Given the description of an element on the screen output the (x, y) to click on. 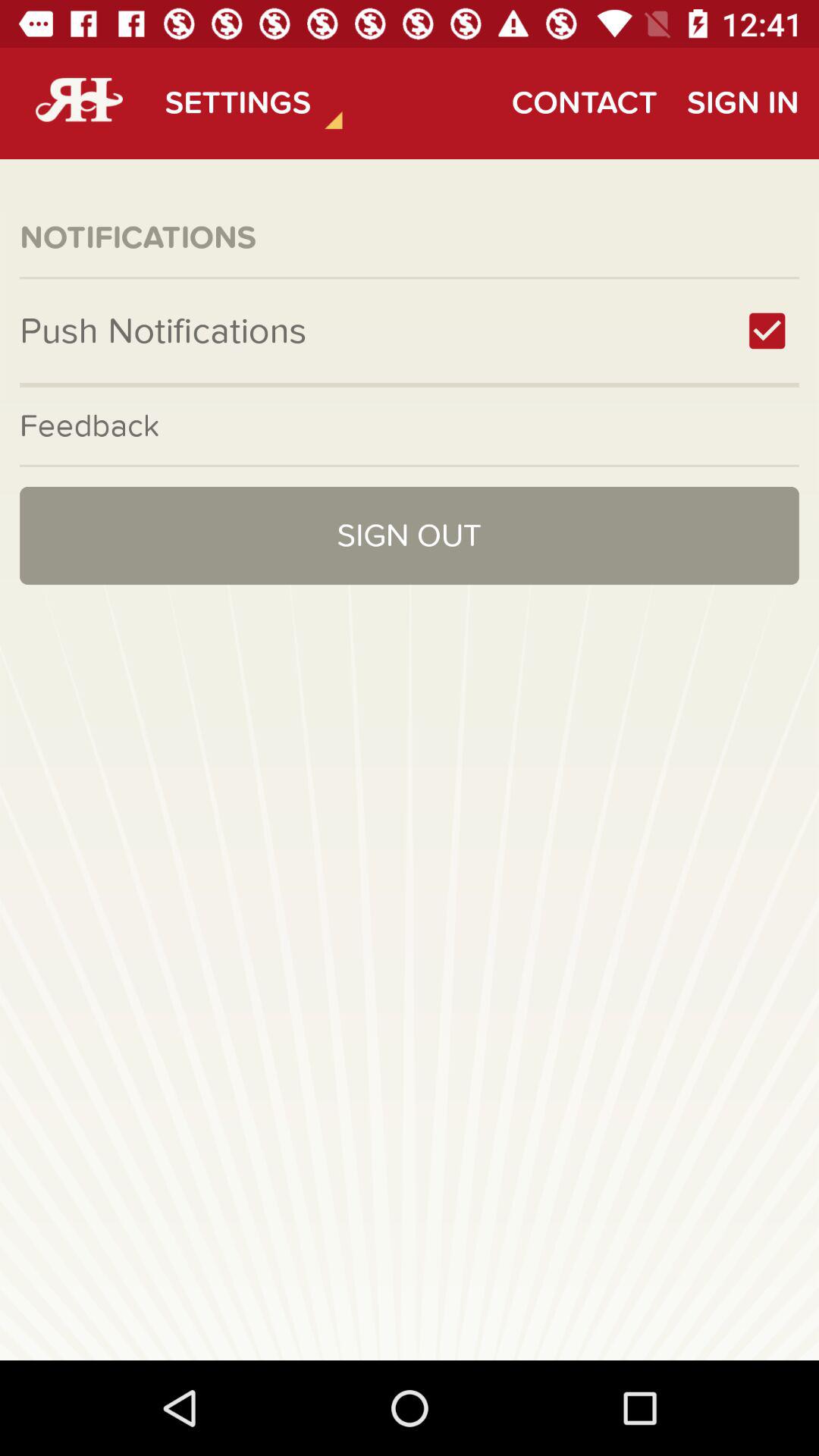
launch contact icon (583, 103)
